Given the description of an element on the screen output the (x, y) to click on. 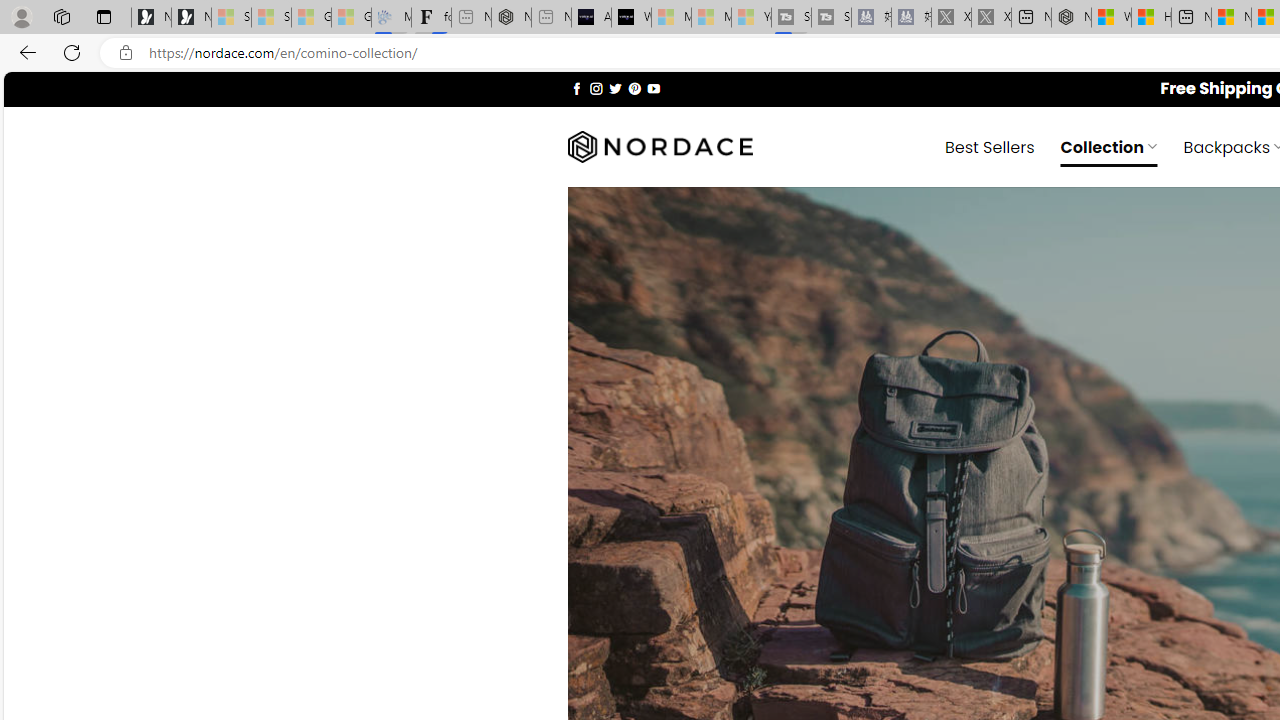
Huge shark washes ashore at New York City beach | Watch (1151, 17)
Streaming Coverage | T3 - Sleeping (791, 17)
Microsoft Start - Sleeping (711, 17)
What's the best AI voice generator? - voice.ai (631, 17)
 Best Sellers (989, 146)
Follow on Pinterest (634, 88)
New tab - Sleeping (551, 17)
Nordace - #1 Japanese Best-Seller - Siena Smart Backpack (511, 17)
